Given the description of an element on the screen output the (x, y) to click on. 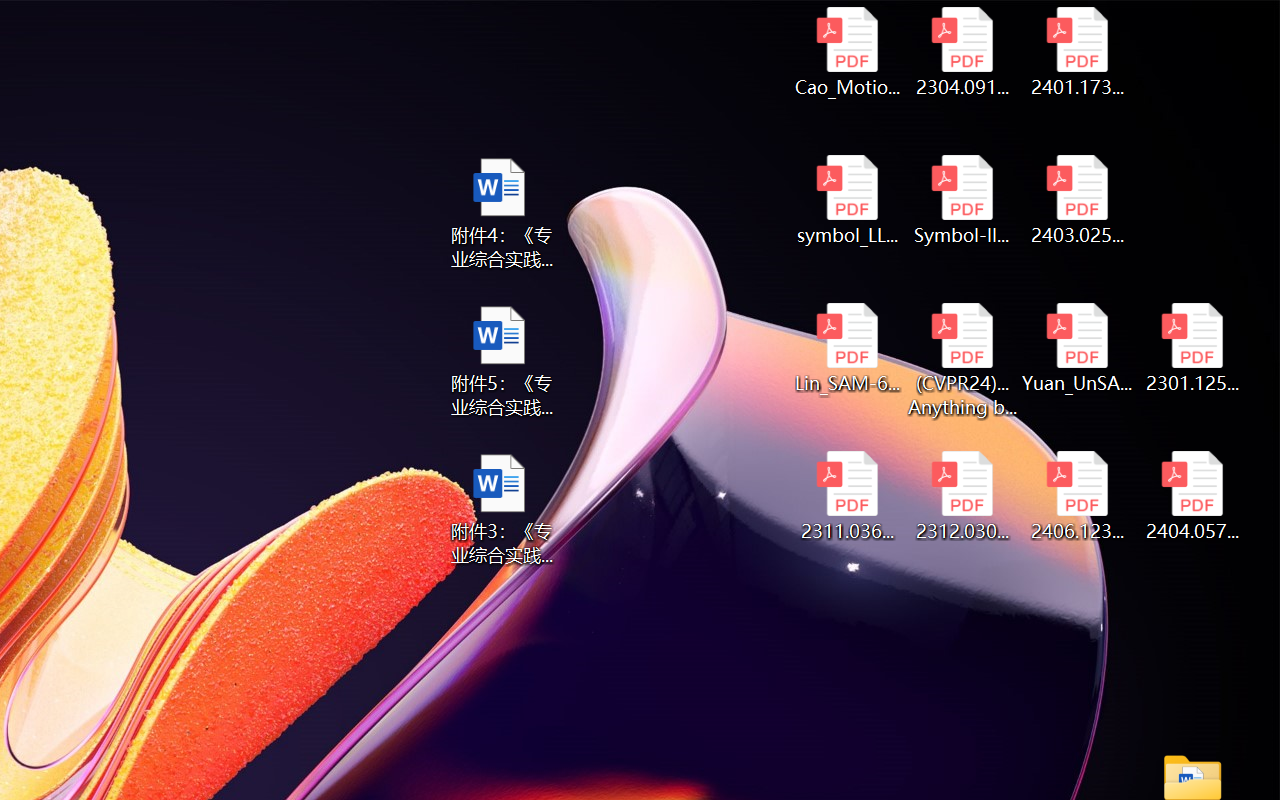
symbol_LLM.pdf (846, 200)
